Given the description of an element on the screen output the (x, y) to click on. 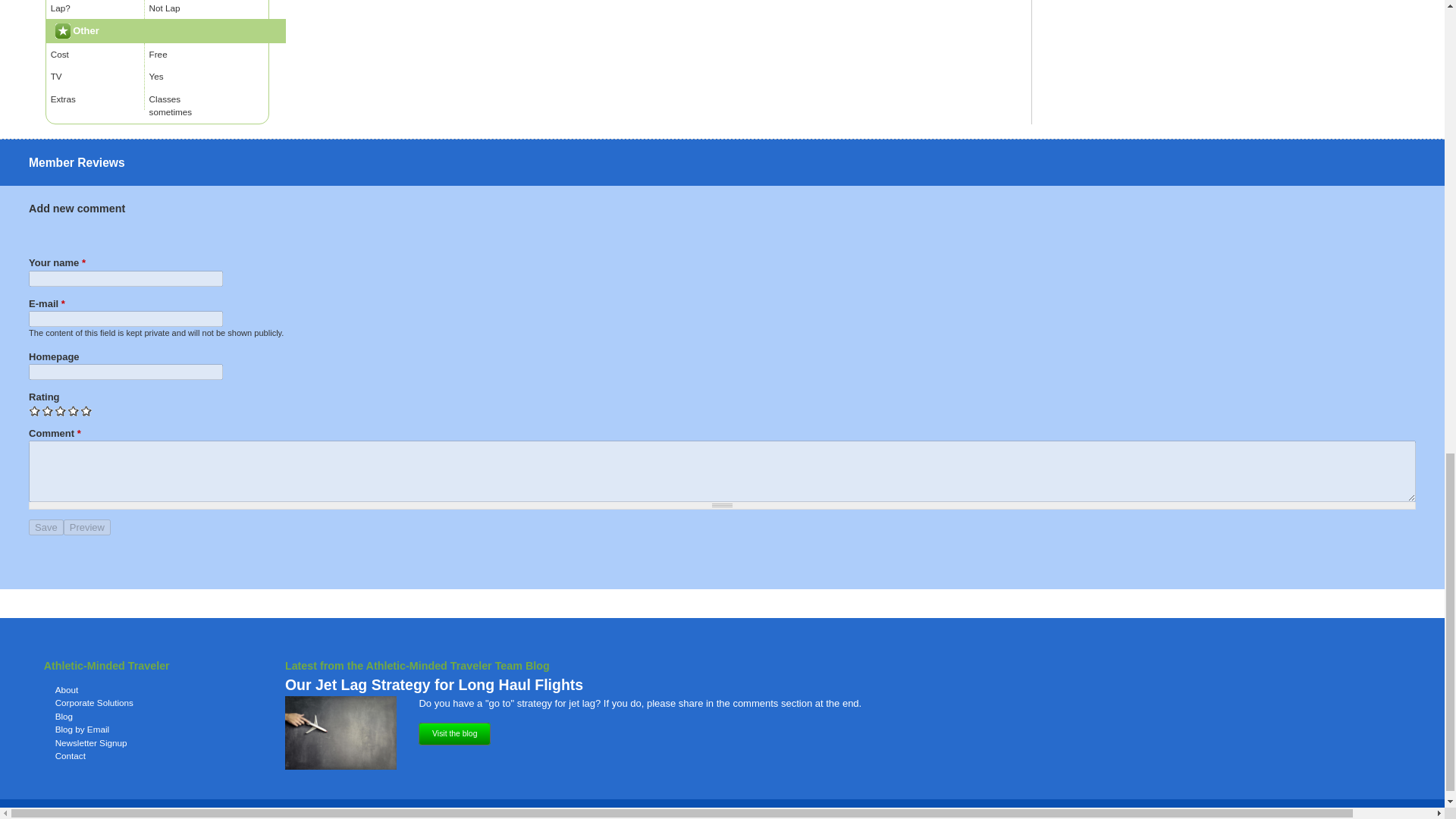
Preview (87, 527)
Save (46, 527)
